Given the description of an element on the screen output the (x, y) to click on. 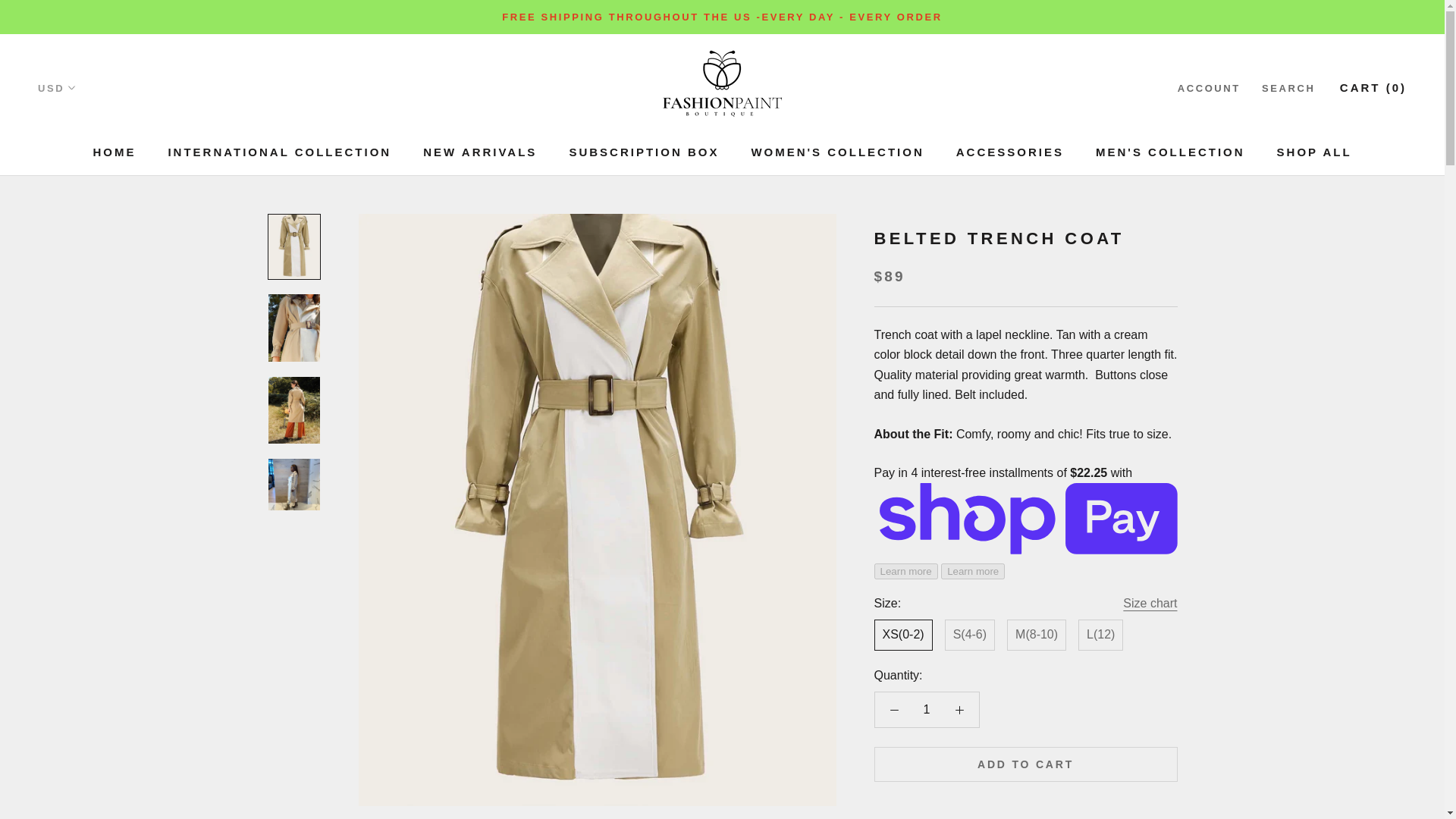
1 (925, 709)
WOMEN'S COLLECTION (279, 151)
ACCESSORIES (114, 151)
Currency selector (837, 151)
